Given the description of an element on the screen output the (x, y) to click on. 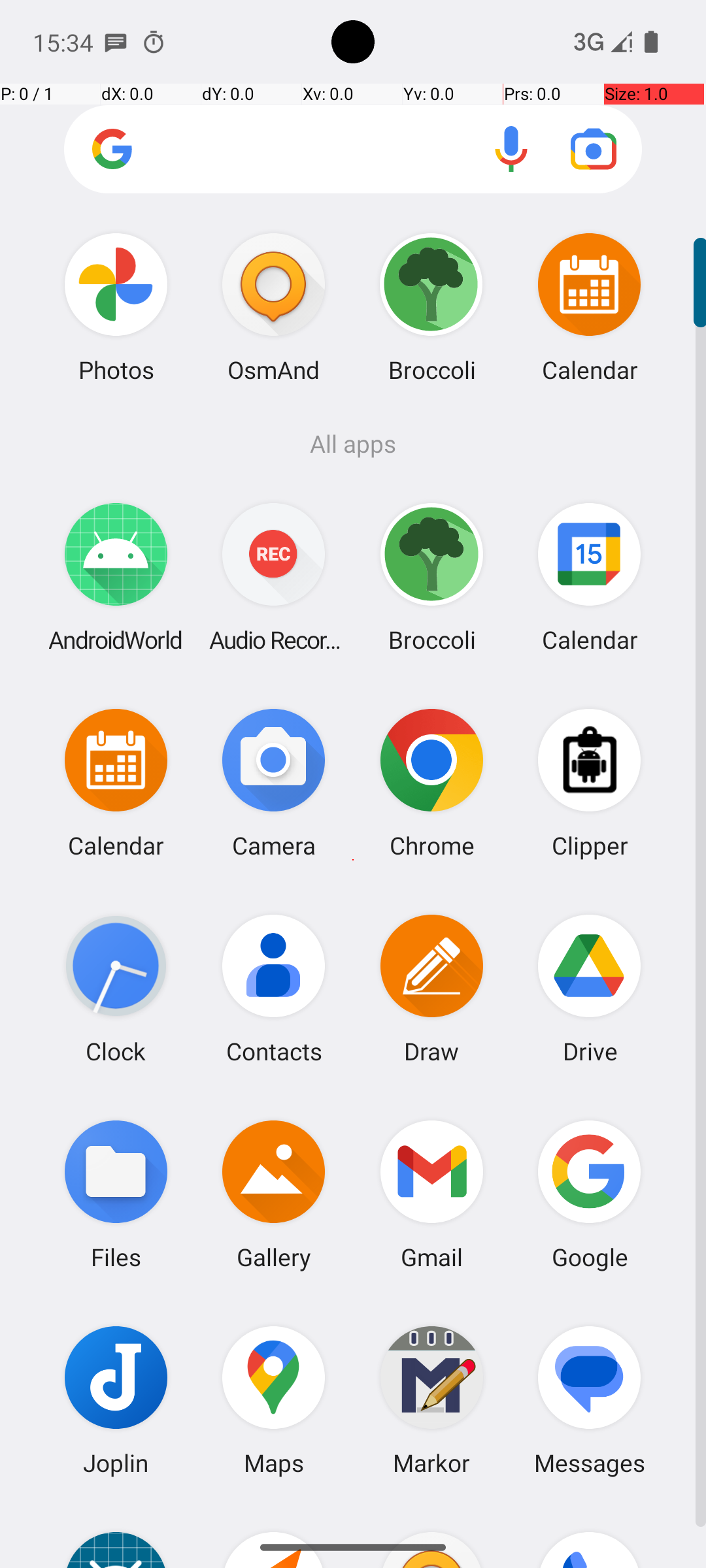
Search apps, web and more Element type: android.widget.EditText (352, 148)
Clipper Element type: android.widget.TextView (589, 782)
Maps Element type: android.widget.TextView (273, 1399)
Miniwob App Element type: android.widget.TextView (115, 1535)
